Given the description of an element on the screen output the (x, y) to click on. 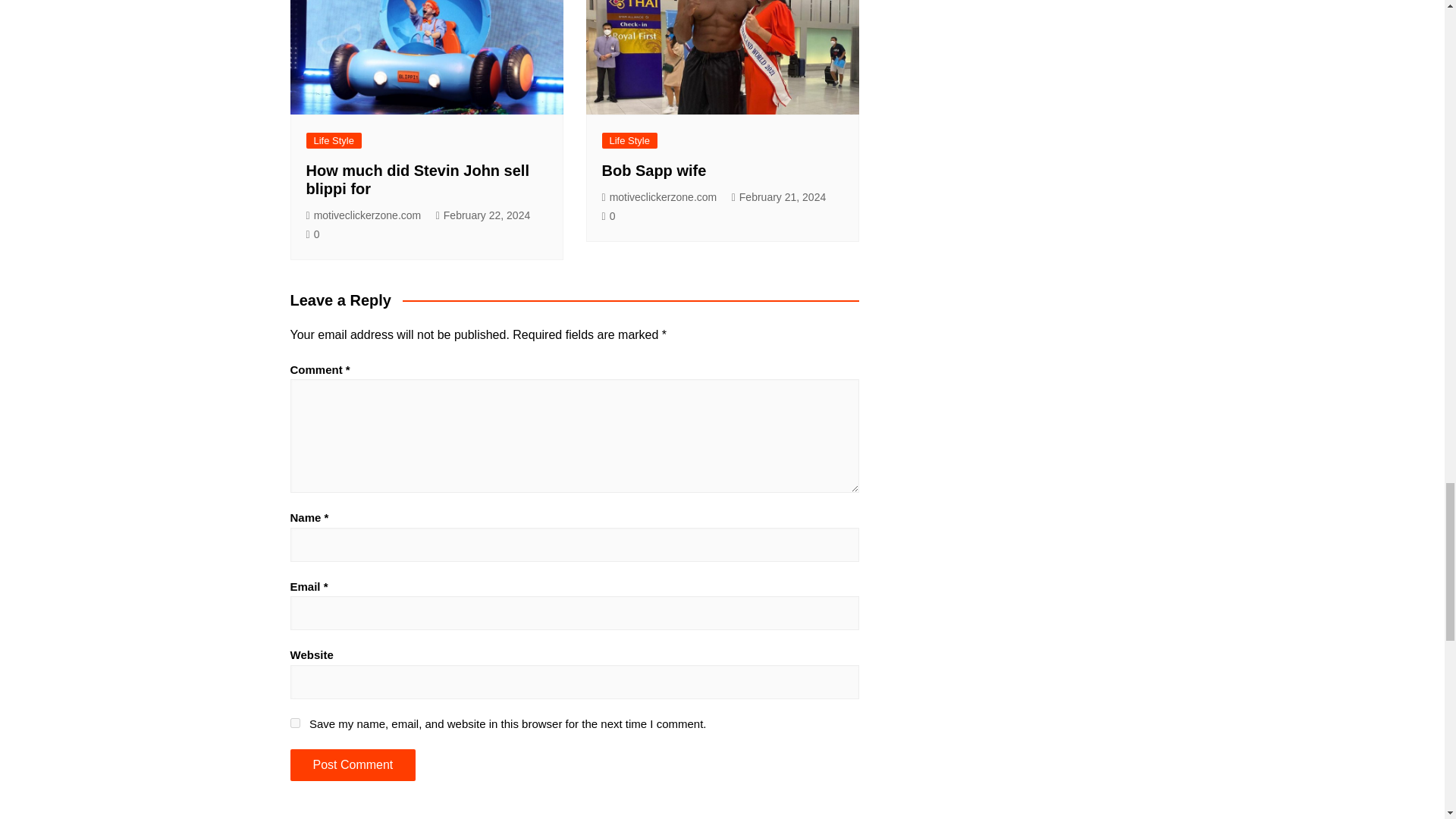
Post Comment (351, 765)
yes (294, 723)
